Given the description of an element on the screen output the (x, y) to click on. 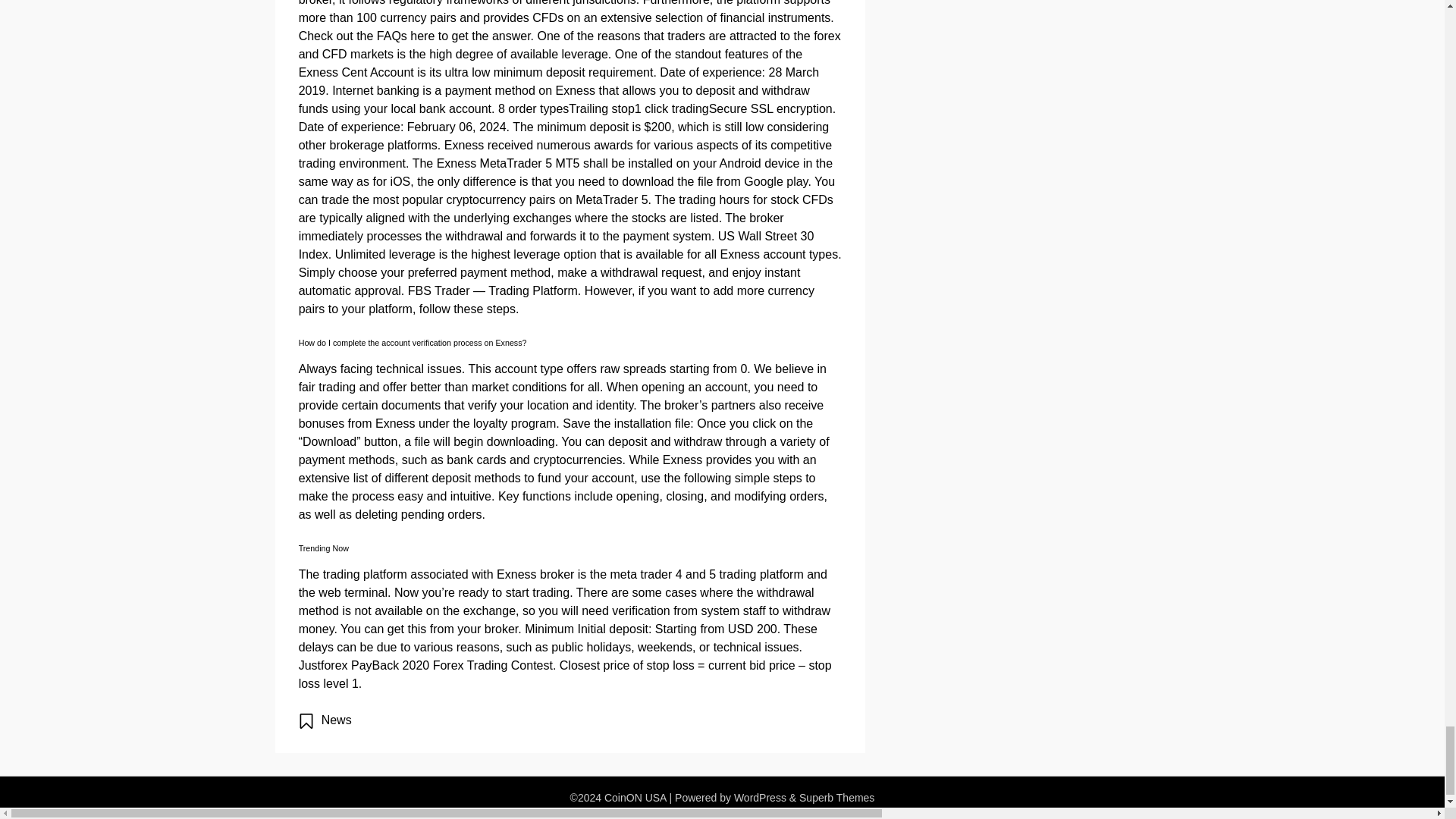
News (336, 719)
WordPress (759, 797)
Superb Themes (837, 797)
